Given the description of an element on the screen output the (x, y) to click on. 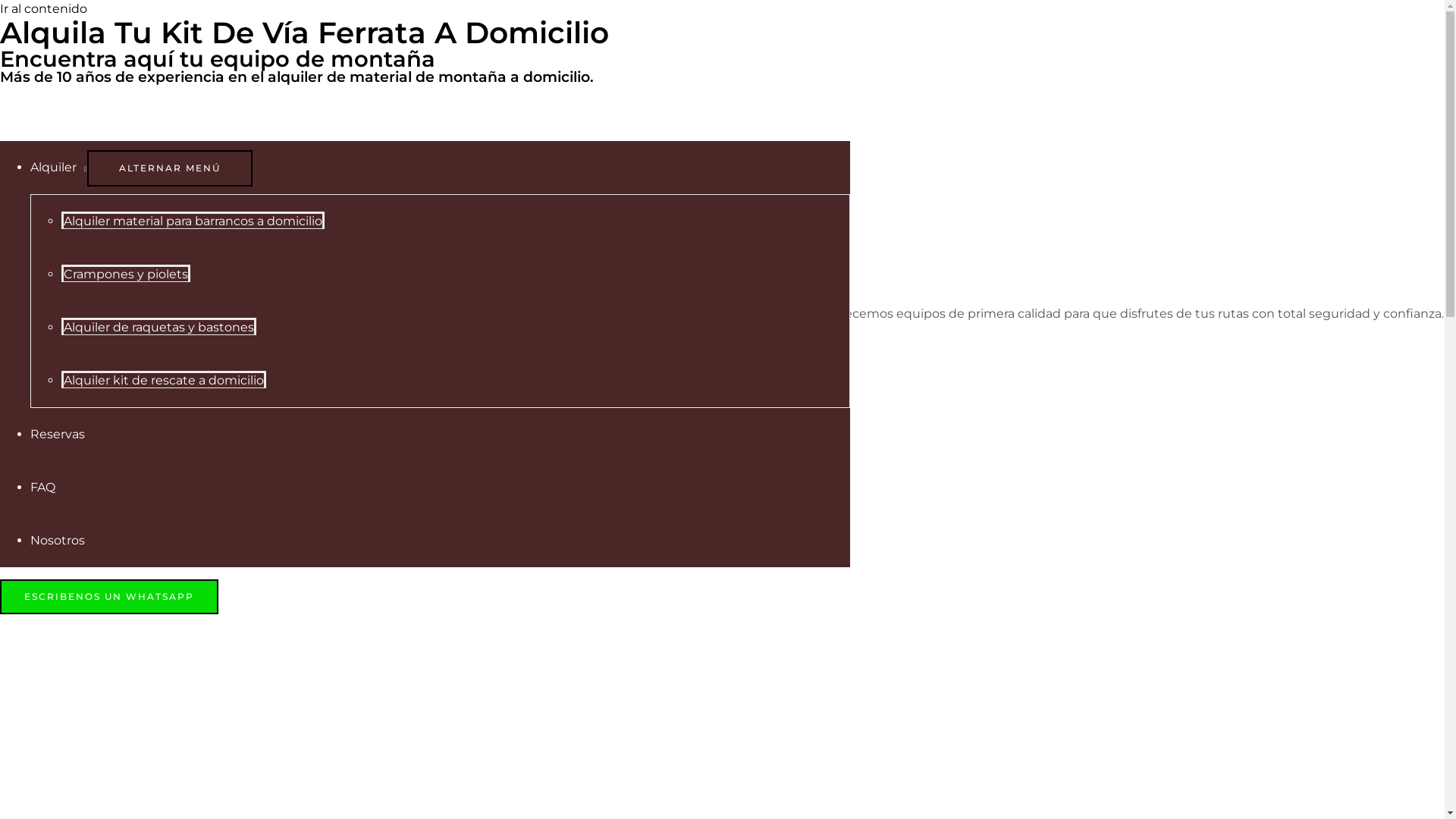
Crampones y piolets Element type: text (125, 273)
Reservas Element type: text (57, 433)
Nosotros Element type: text (57, 540)
Ir al contenido Element type: text (43, 8)
Alquiler material para barrancos a domicilio Element type: text (192, 220)
FAQ Element type: text (42, 487)
Alquiler kit de rescate a domicilio Element type: text (163, 379)
Alquiler Element type: text (58, 167)
Alquiler de raquetas y bastones Element type: text (158, 326)
ESCRIBENOS UN WHATSAPP Element type: text (109, 596)
